Given the description of an element on the screen output the (x, y) to click on. 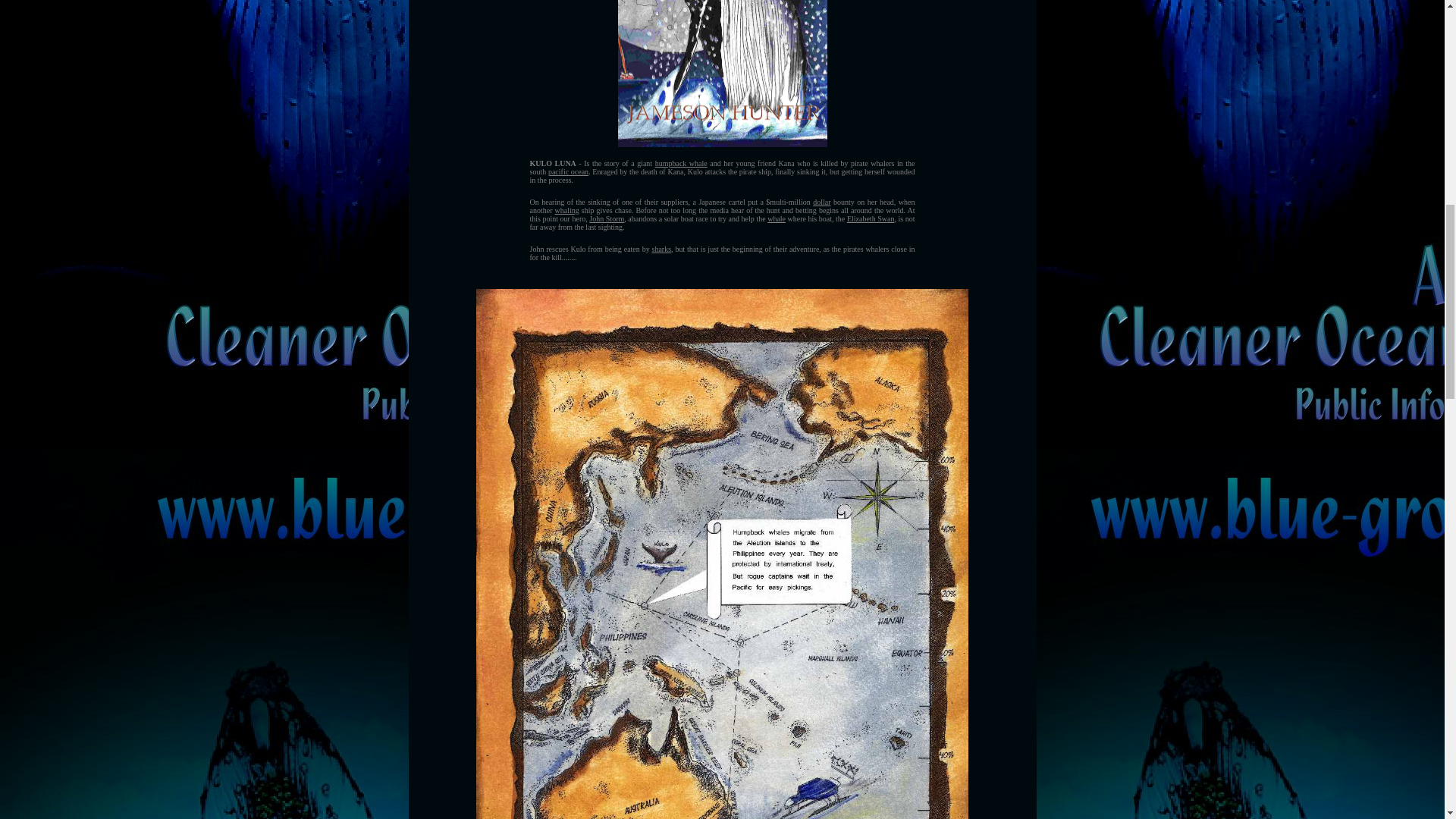
whaling (566, 210)
John Storm (606, 218)
humpback whale (681, 162)
sharks (660, 248)
dollar (820, 202)
Elizabeth Swan (871, 218)
whale (776, 218)
pacific ocean (568, 171)
